Given the description of an element on the screen output the (x, y) to click on. 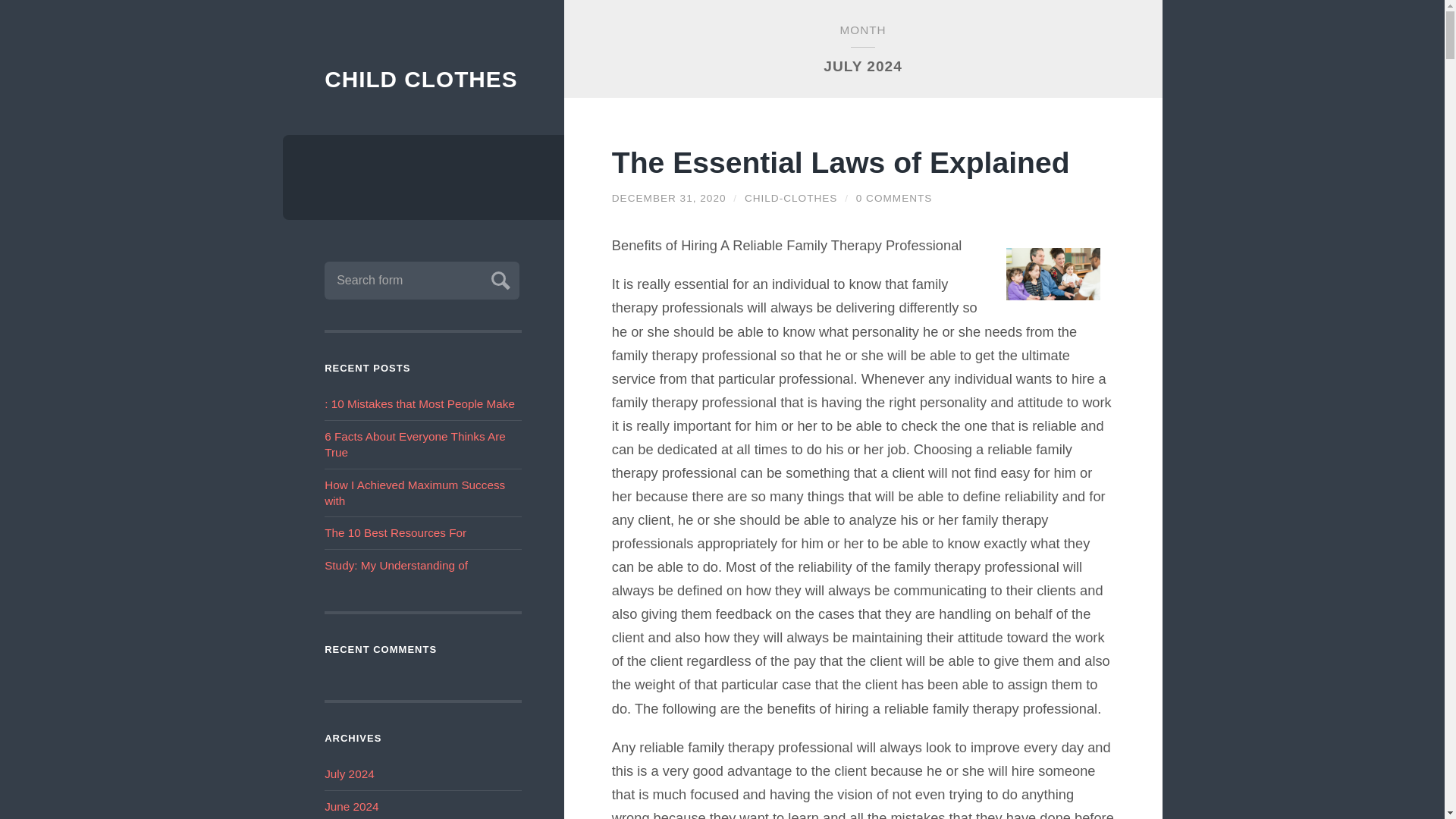
6 Facts About Everyone Thinks Are True (414, 443)
June 2024 (351, 806)
Submit (498, 278)
July 2024 (349, 773)
Posts by child-clothes (791, 197)
Search (498, 278)
The Essential Laws of  Explained (668, 197)
CHILD CLOTHES (422, 79)
The 10 Best Resources For (394, 532)
The Essential Laws of  Explained (840, 162)
